Given the description of an element on the screen output the (x, y) to click on. 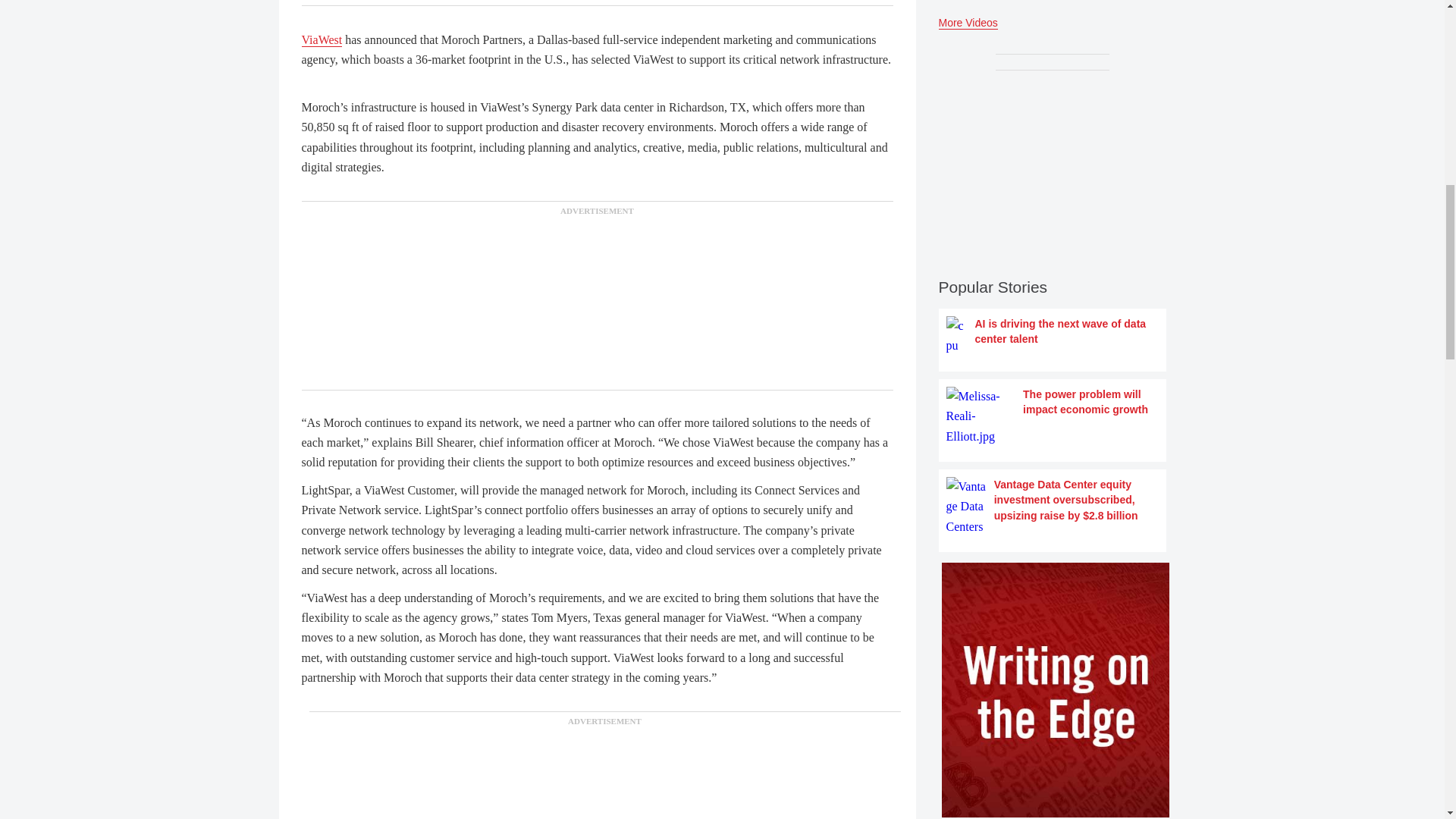
AI is driving the next wave of data center talent (1052, 336)
The power problem will impact economic growth (1052, 416)
